Given the description of an element on the screen output the (x, y) to click on. 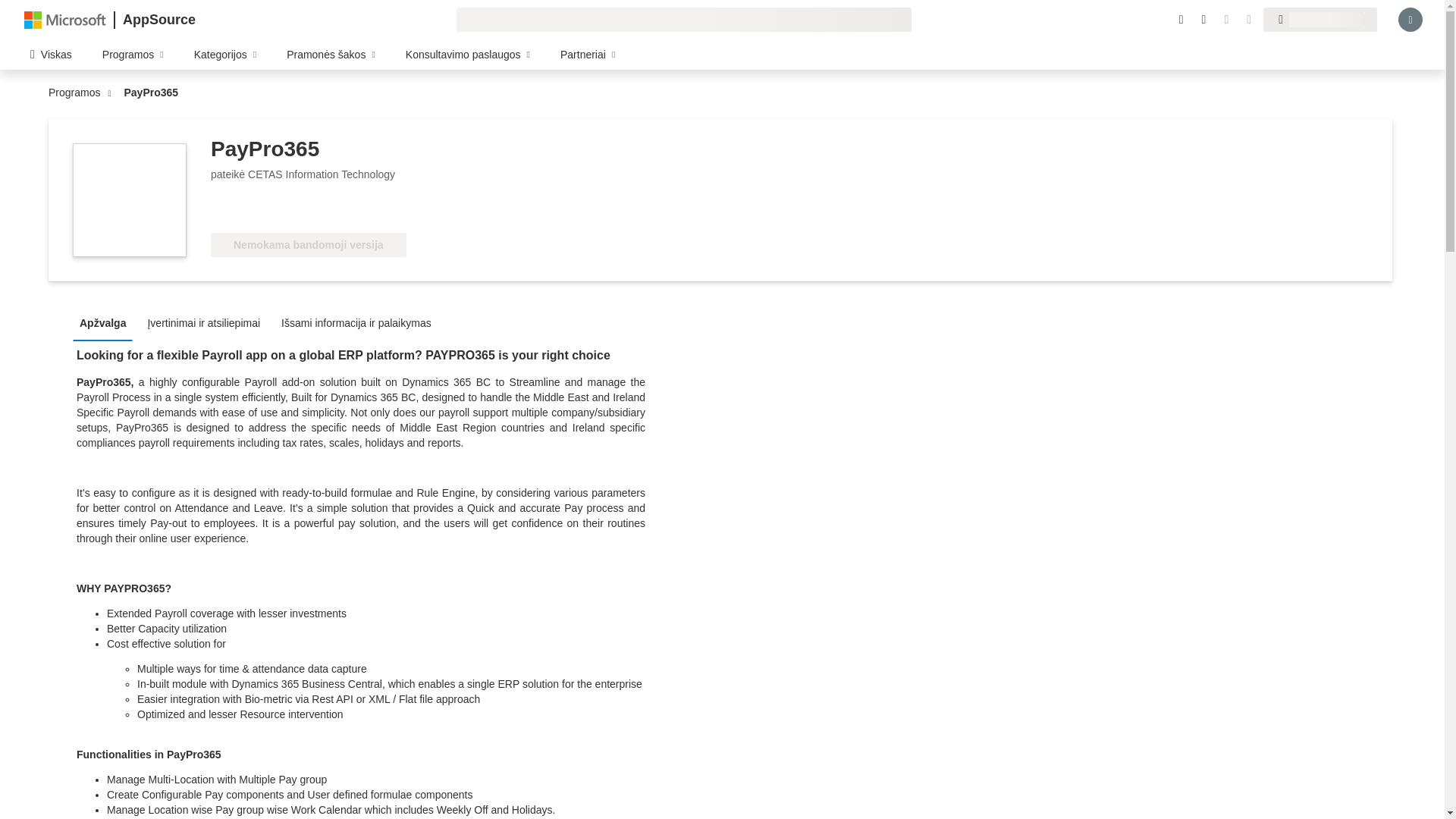
Microsoft (65, 18)
Programos (77, 92)
AppSource (158, 19)
Nemokama bandomoji versija (308, 244)
